Given the description of an element on the screen output the (x, y) to click on. 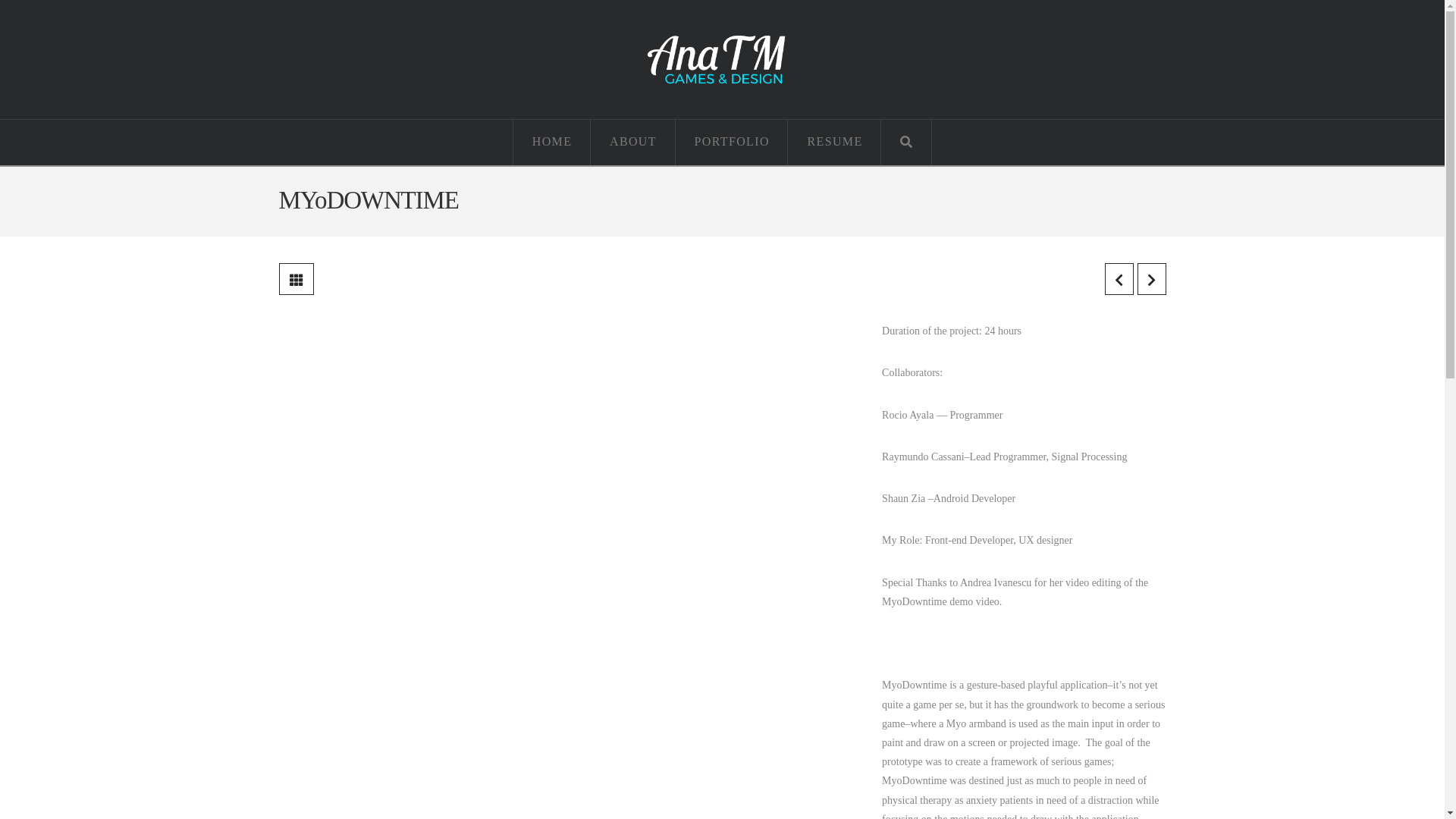
PORTFOLIO Element type: text (731, 142)
RESUME Element type: text (834, 142)
ABOUT Element type: text (632, 142)
HOME Element type: text (551, 142)
